Given the description of an element on the screen output the (x, y) to click on. 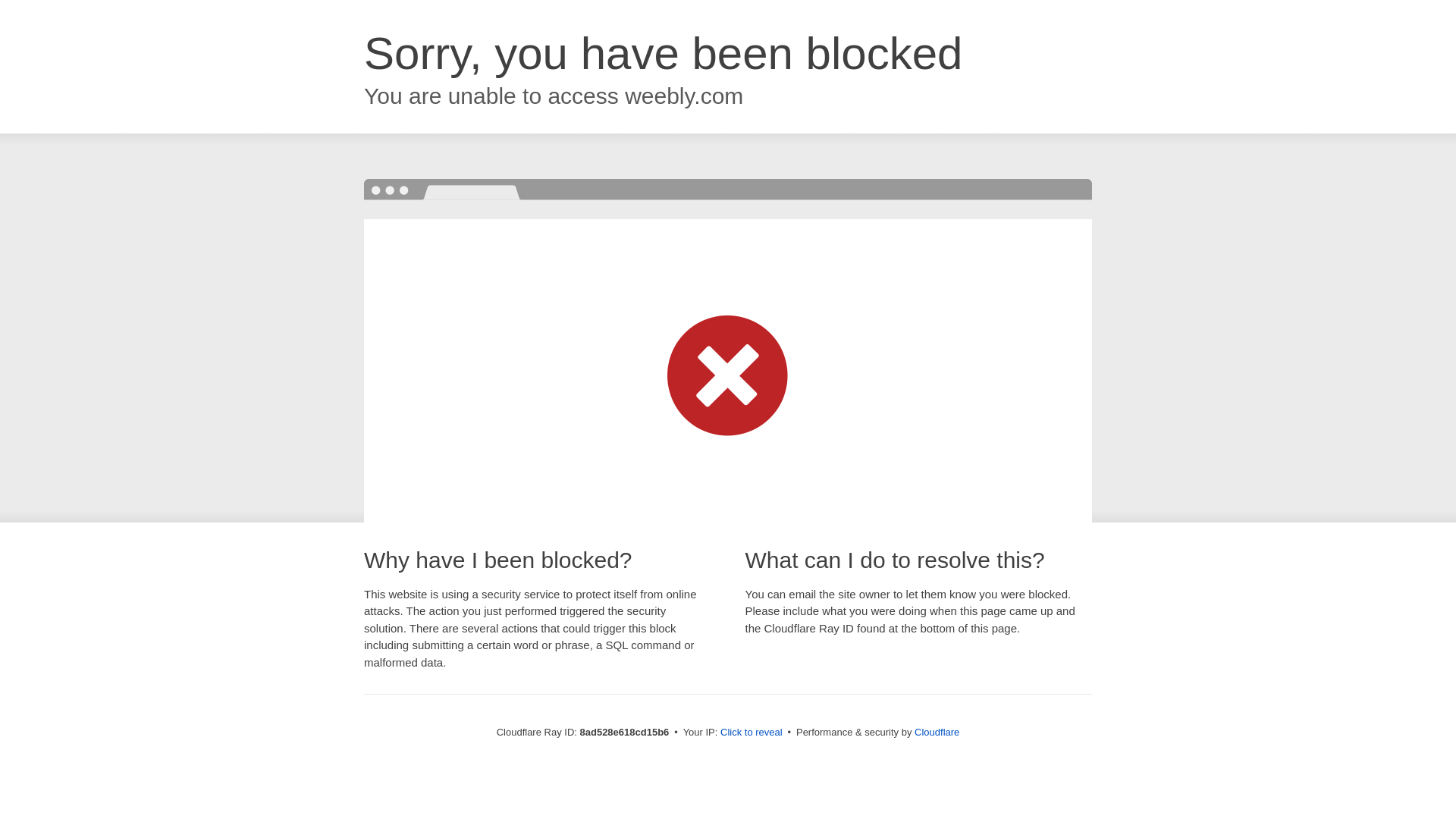
Click to reveal (751, 732)
Cloudflare (936, 731)
